Given the description of an element on the screen output the (x, y) to click on. 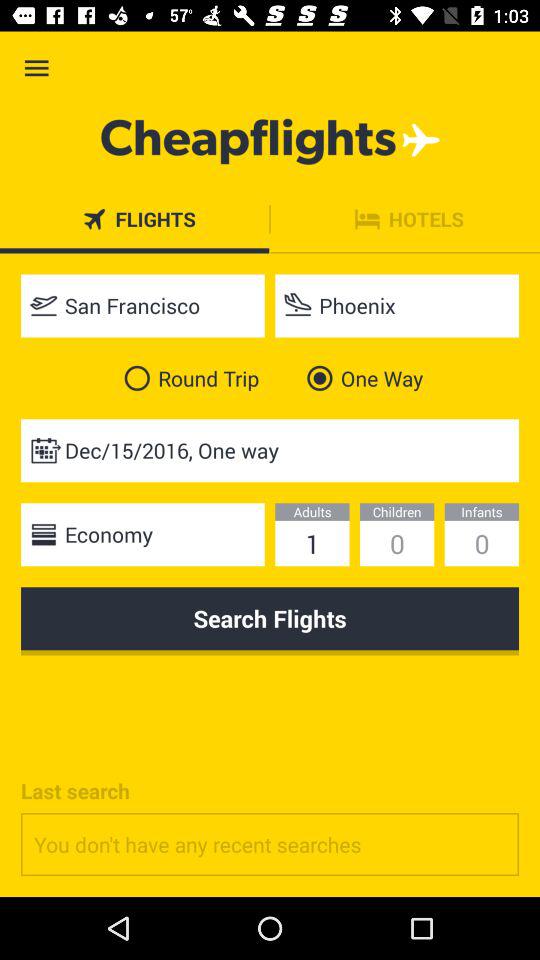
press search flights (270, 621)
